Given the description of an element on the screen output the (x, y) to click on. 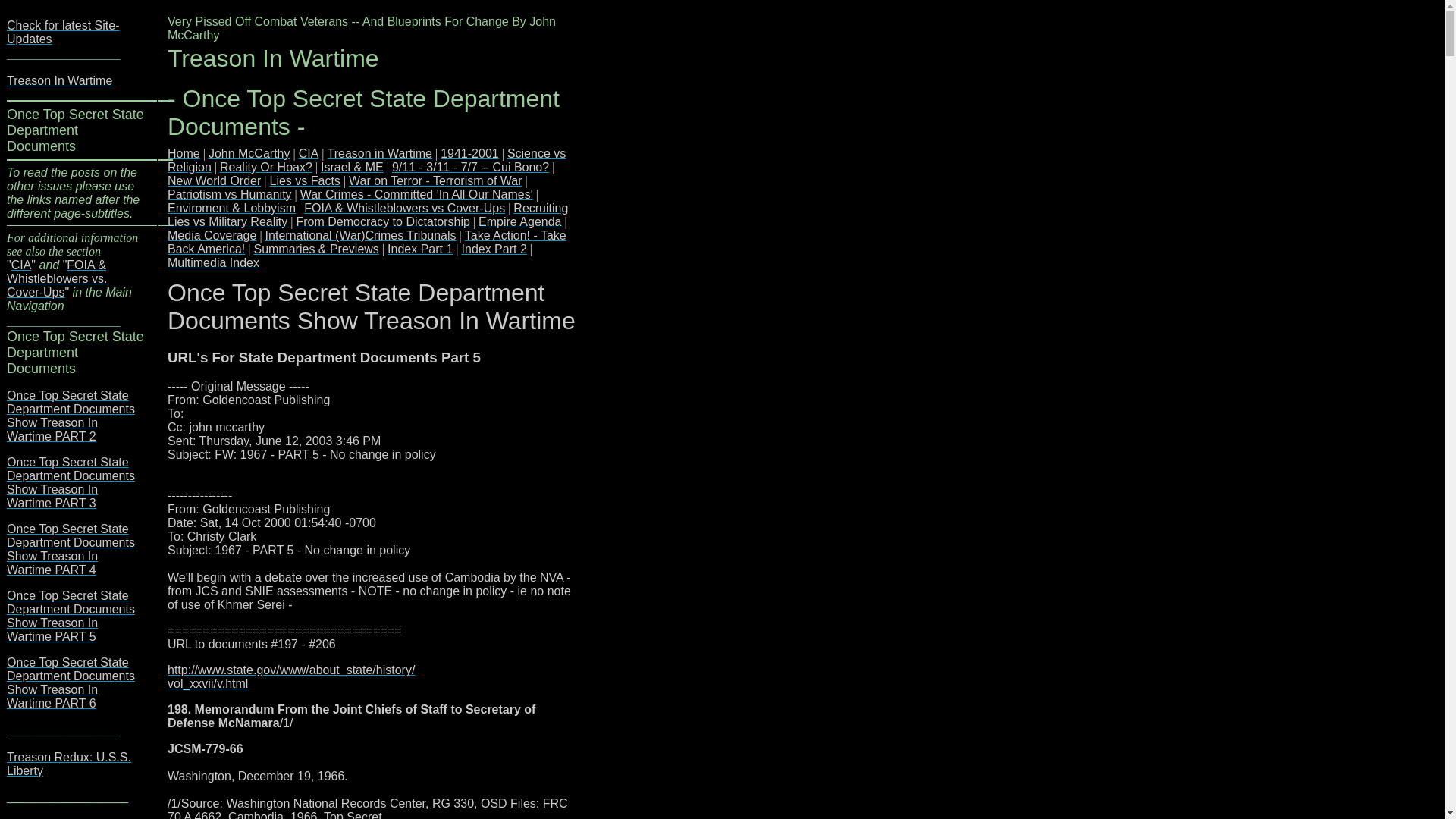
New World Order (213, 180)
Index Part 1 (419, 248)
Patriotism vs Humanity (229, 194)
John McCarthy (248, 153)
War on Terror - Terrorism of War (435, 180)
Multimedia Index (213, 262)
Science vs Religion (366, 160)
